Given the description of an element on the screen output the (x, y) to click on. 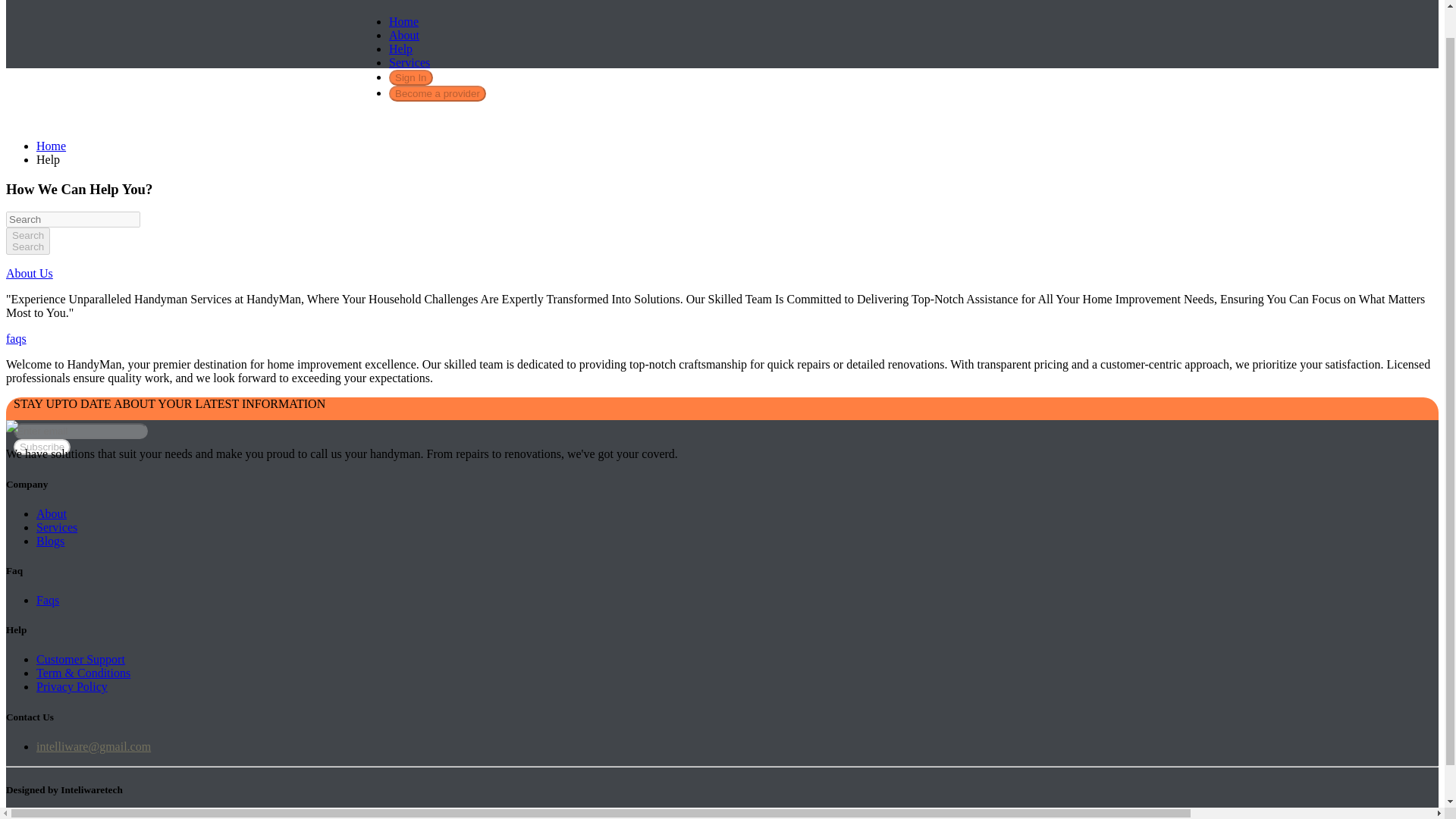
Services (27, 240)
About (56, 526)
Sign In (51, 513)
Become a provider (410, 76)
Help (437, 92)
Sign In (400, 48)
Blogs (410, 77)
Privacy Policy (50, 540)
Become a provider (71, 686)
